Given the description of an element on the screen output the (x, y) to click on. 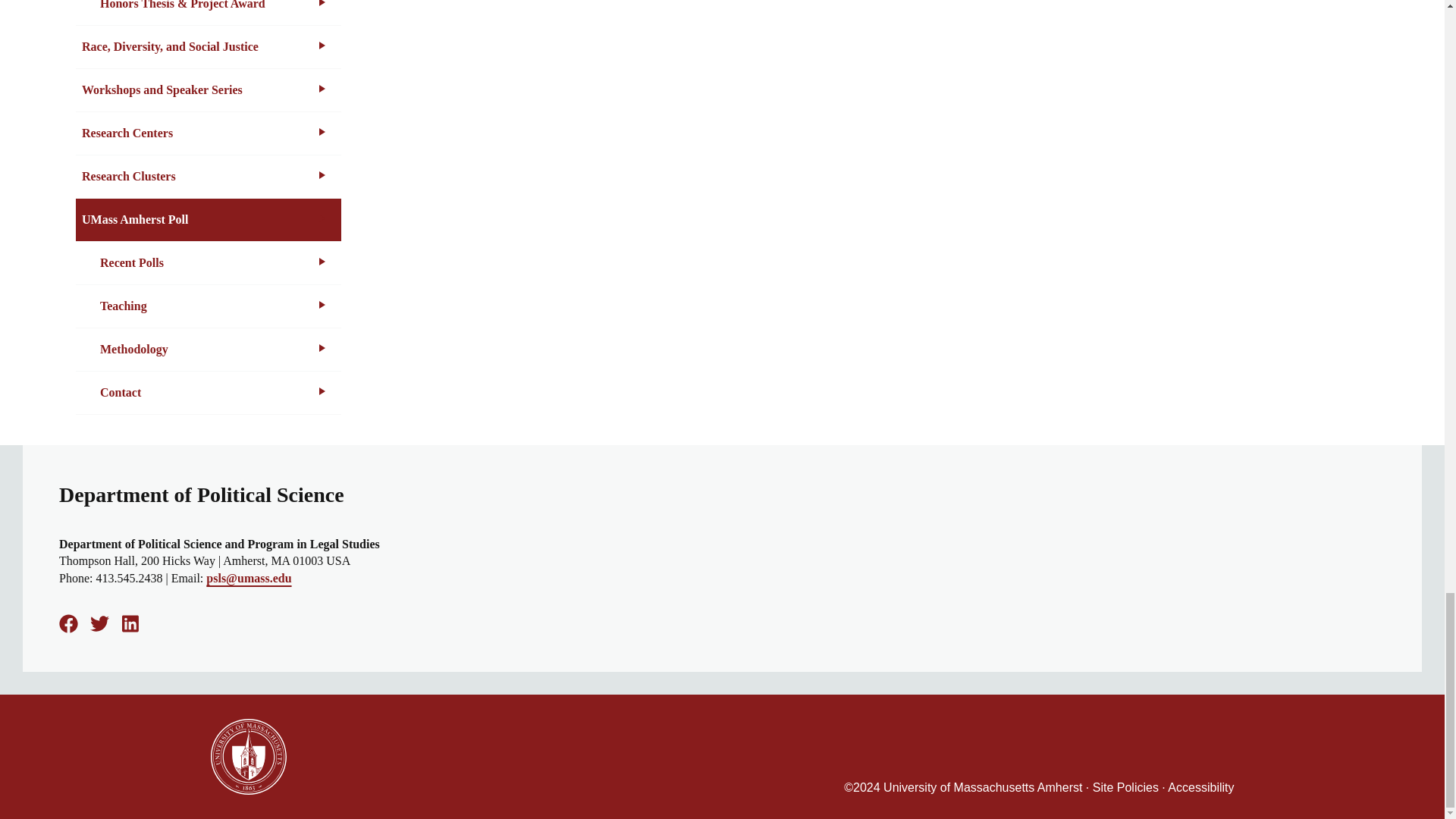
University of Massachusetts Amherst (248, 750)
Race, Diversity, and Social Justice (207, 46)
Research Clusters (207, 177)
Research Centers (207, 133)
Workshops and Speaker Series (207, 90)
